Given the description of an element on the screen output the (x, y) to click on. 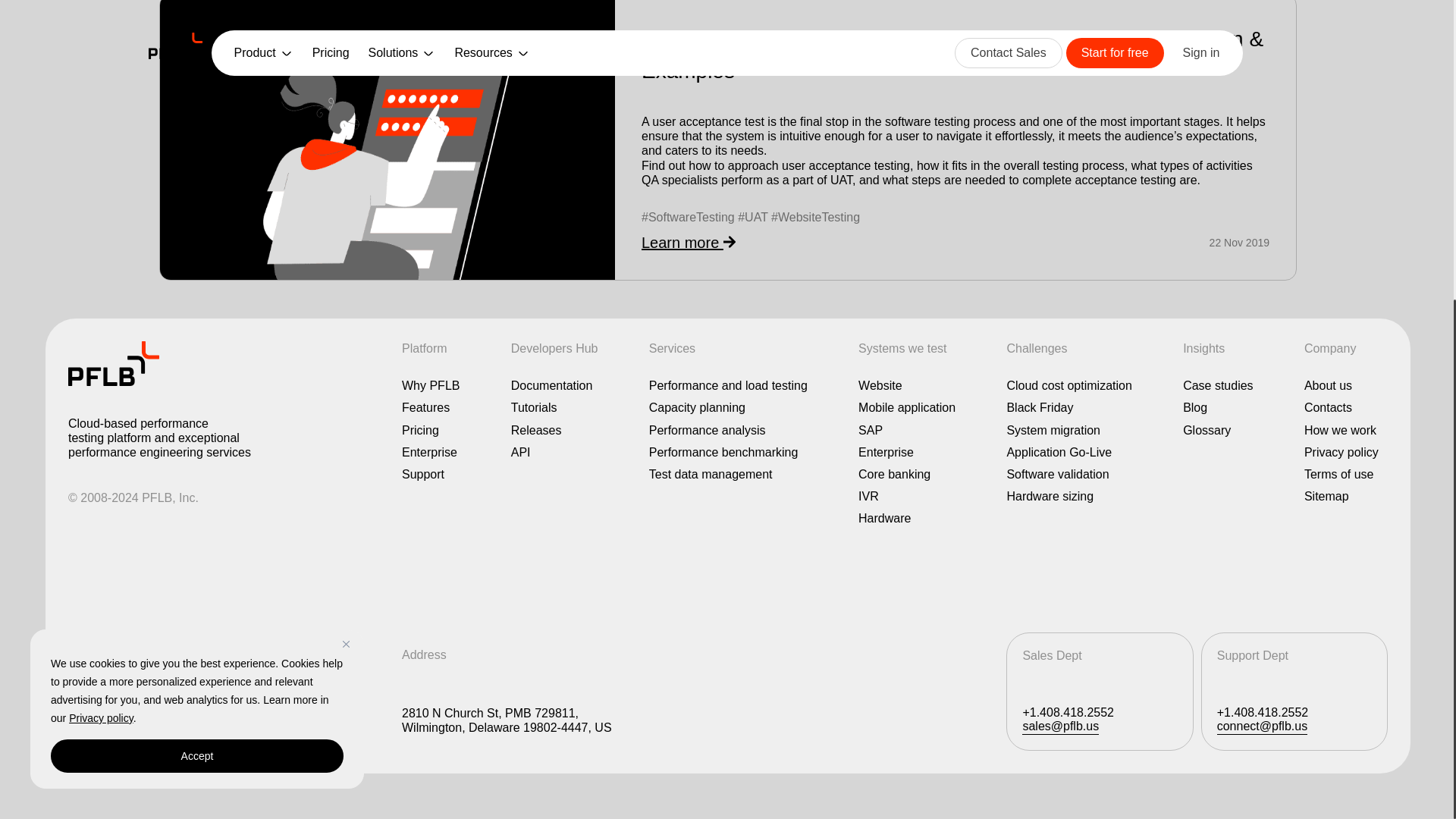
WebsiteTesting Tag (815, 216)
UAT Tag (752, 216)
SoftwareTesting Tag (688, 216)
Privacy policy (100, 245)
Accept (196, 283)
